Given the description of an element on the screen output the (x, y) to click on. 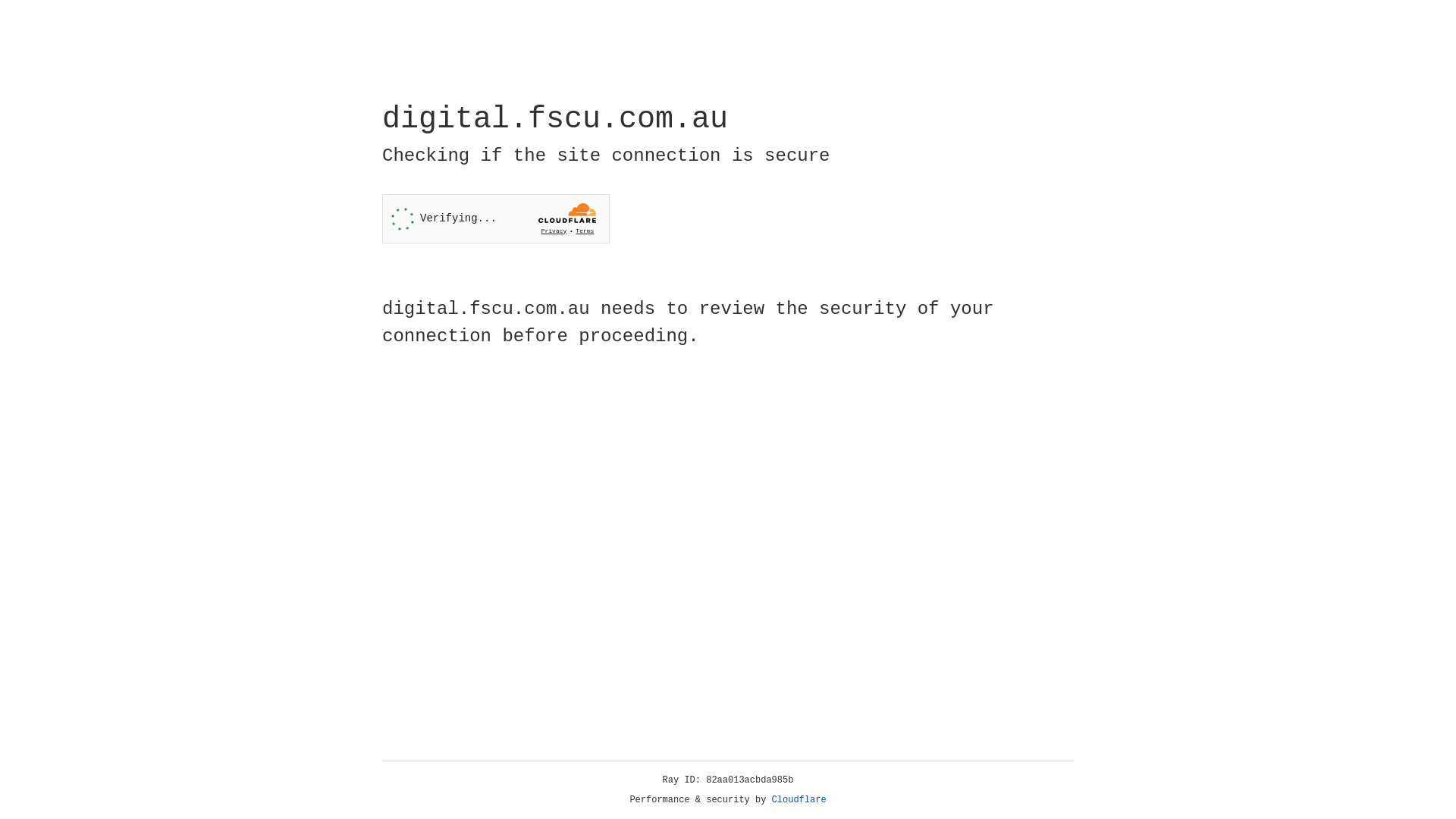
Cloudflare Element type: text (798, 799)
Widget containing a Cloudflare security challenge Element type: hover (495, 218)
